Given the description of an element on the screen output the (x, y) to click on. 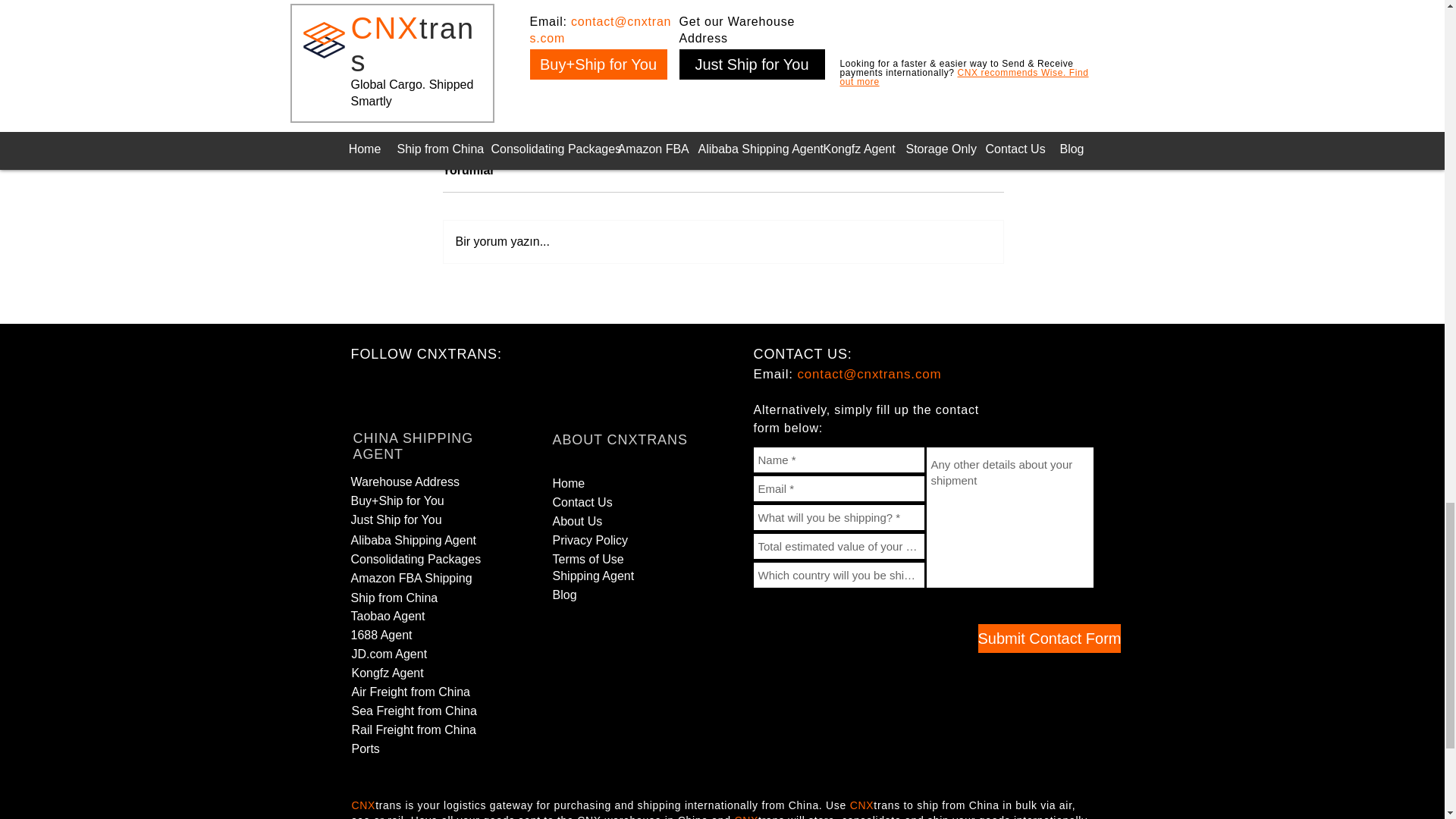
Port of Vancouver (721, 65)
Top 5 Ports in the USA by Container Volume (476, 73)
